Given the description of an element on the screen output the (x, y) to click on. 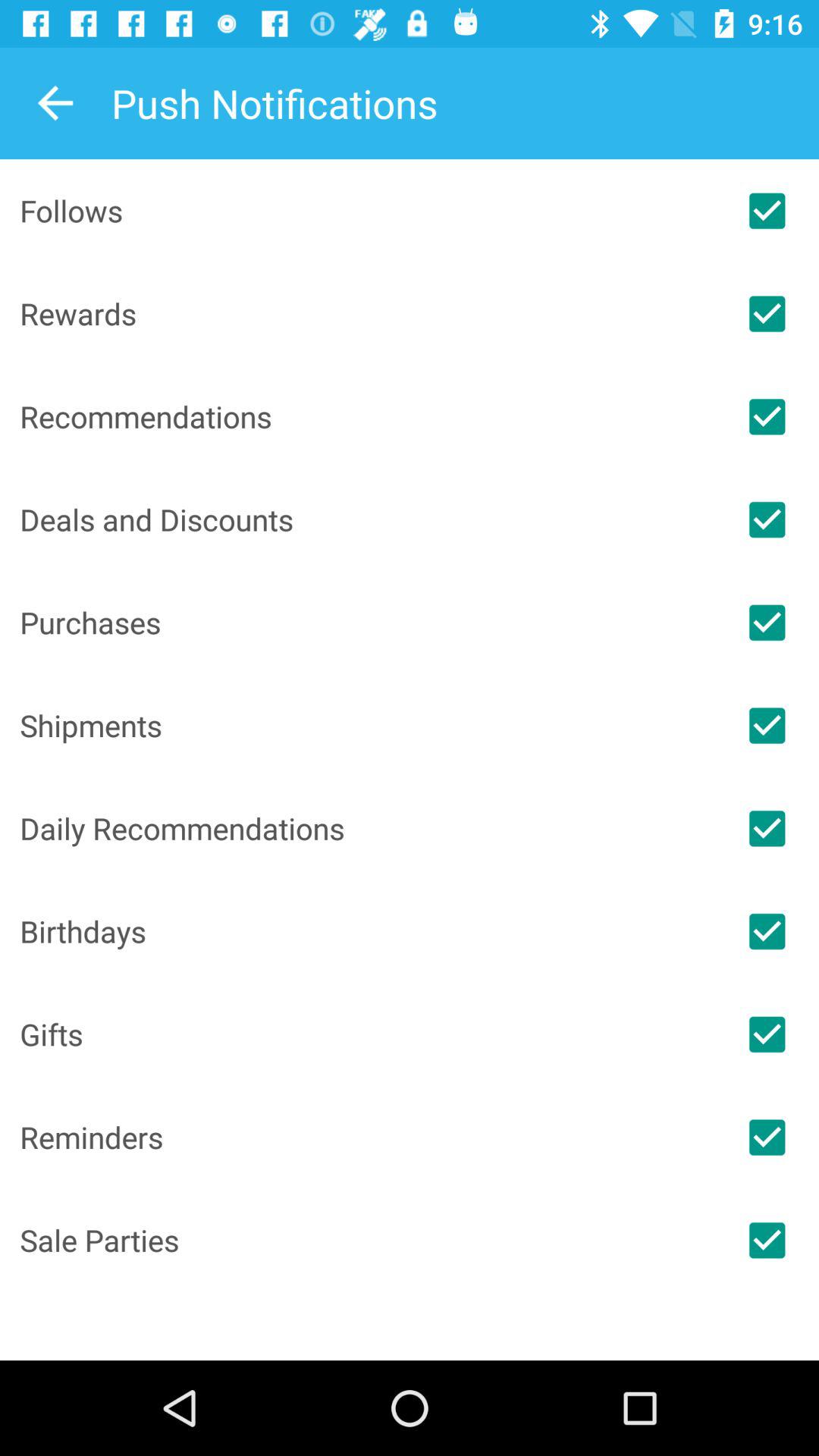
jump until purchases icon (367, 622)
